Given the description of an element on the screen output the (x, y) to click on. 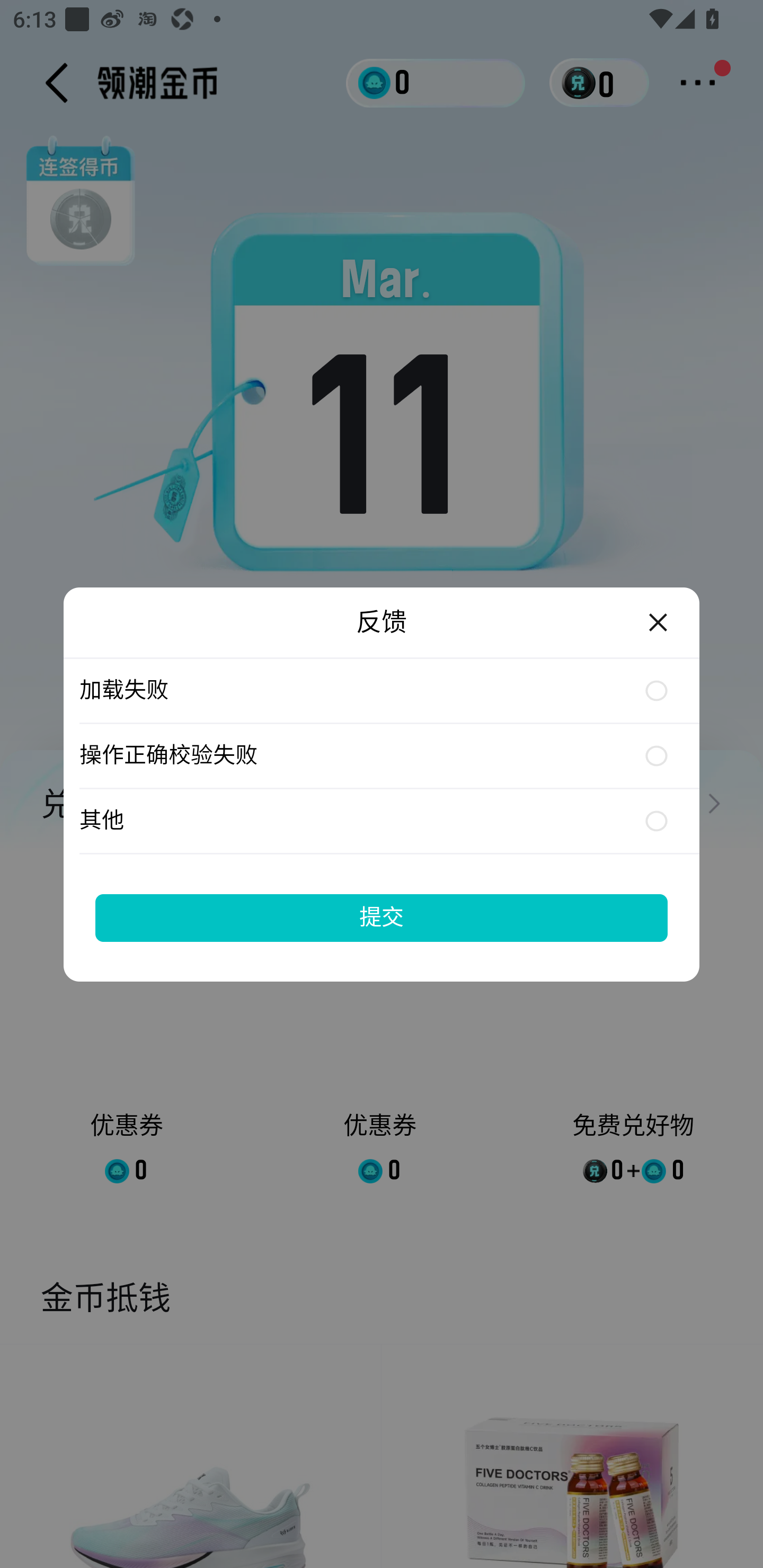
提交 (381, 917)
